Given the description of an element on the screen output the (x, y) to click on. 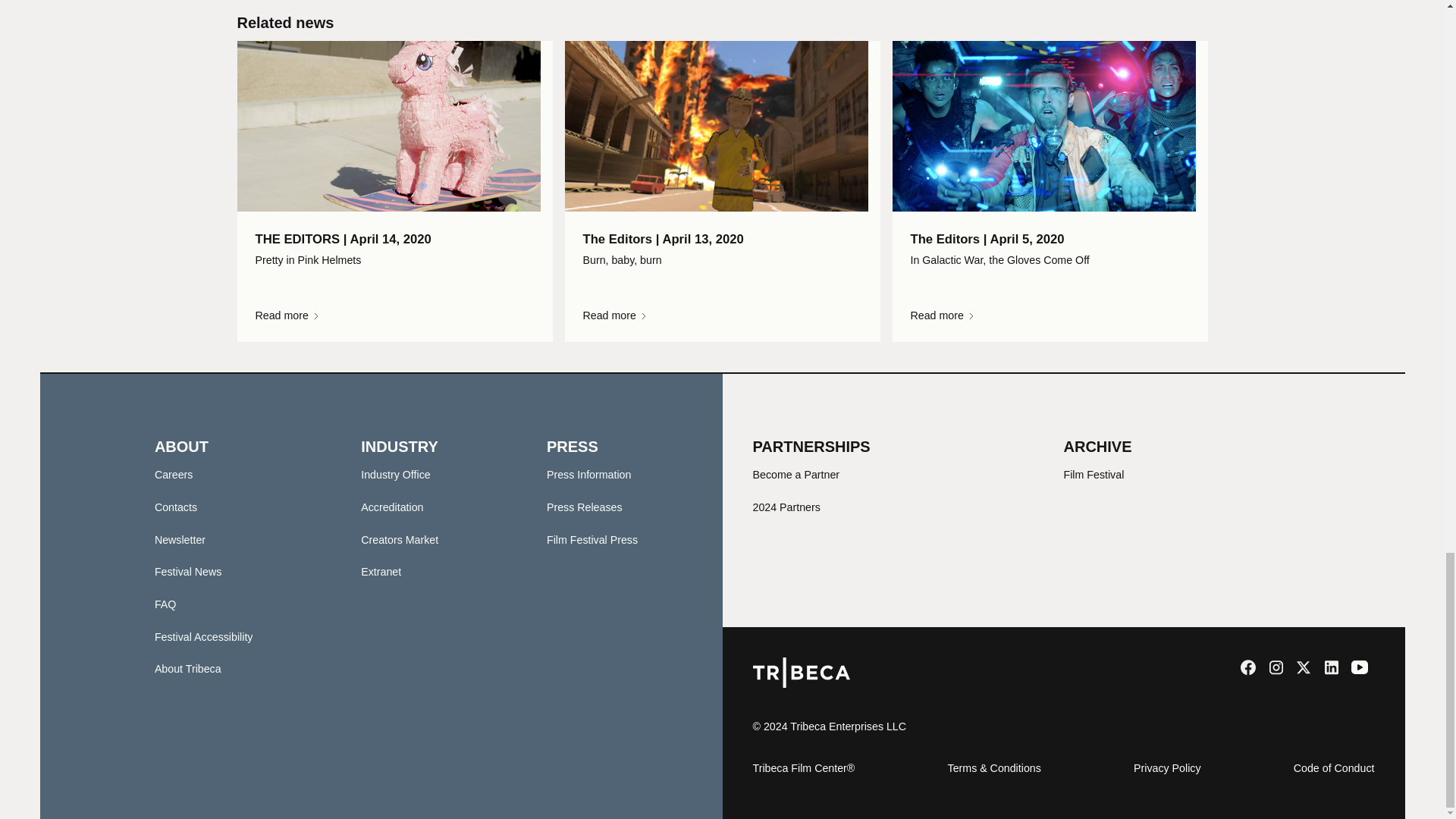
Festival News (188, 571)
Read more (1049, 316)
About Tribeca (187, 668)
Newsletter (179, 539)
Read more (393, 316)
Contacts (175, 507)
Festival Accessibility (203, 636)
FAQ (165, 604)
Careers (173, 474)
Read more (721, 316)
